Given the description of an element on the screen output the (x, y) to click on. 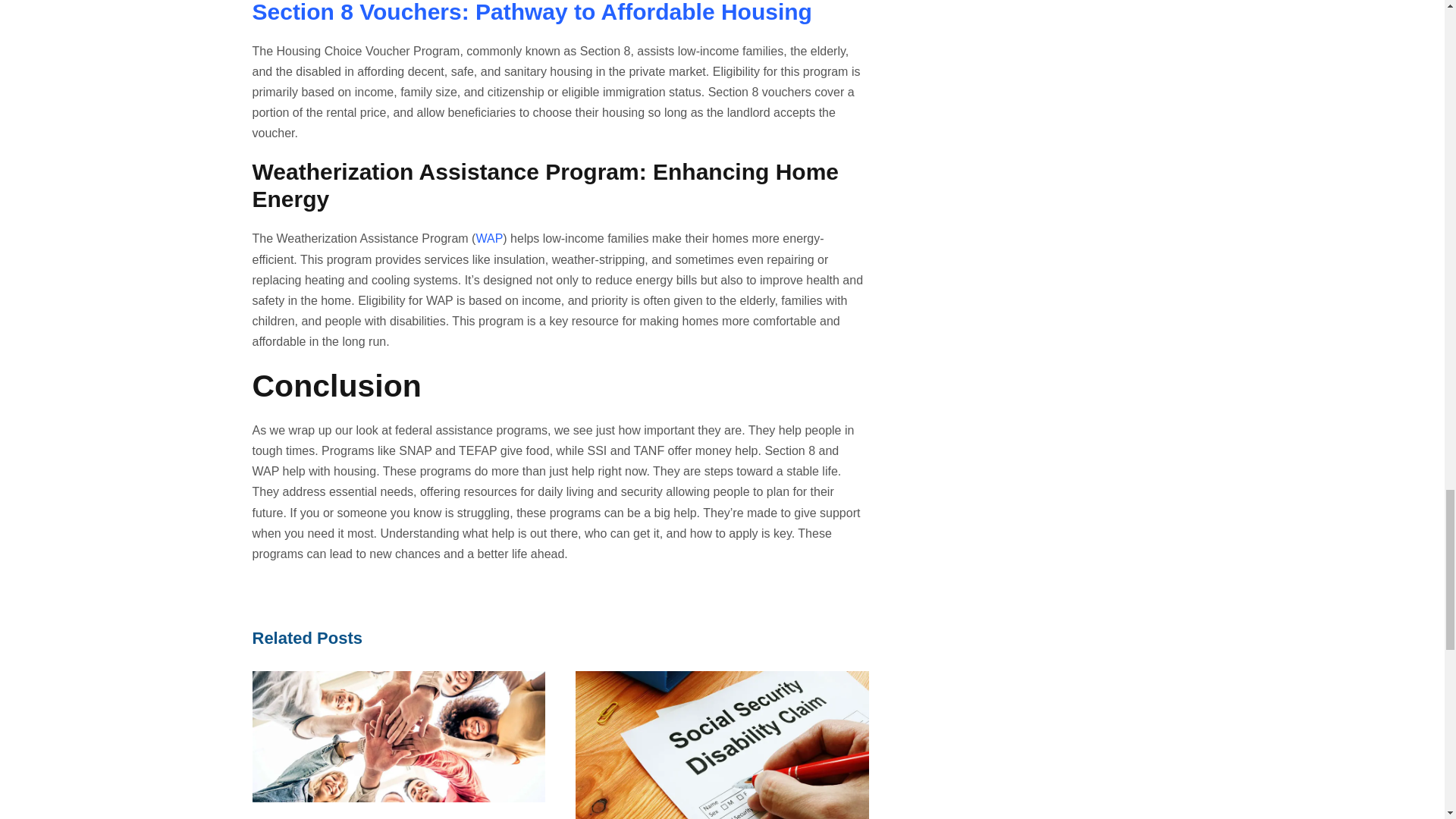
Section 8 Vouchers: Pathway to Affordable Housing (530, 11)
disability-claim (722, 744)
WAP (489, 237)
